Given the description of an element on the screen output the (x, y) to click on. 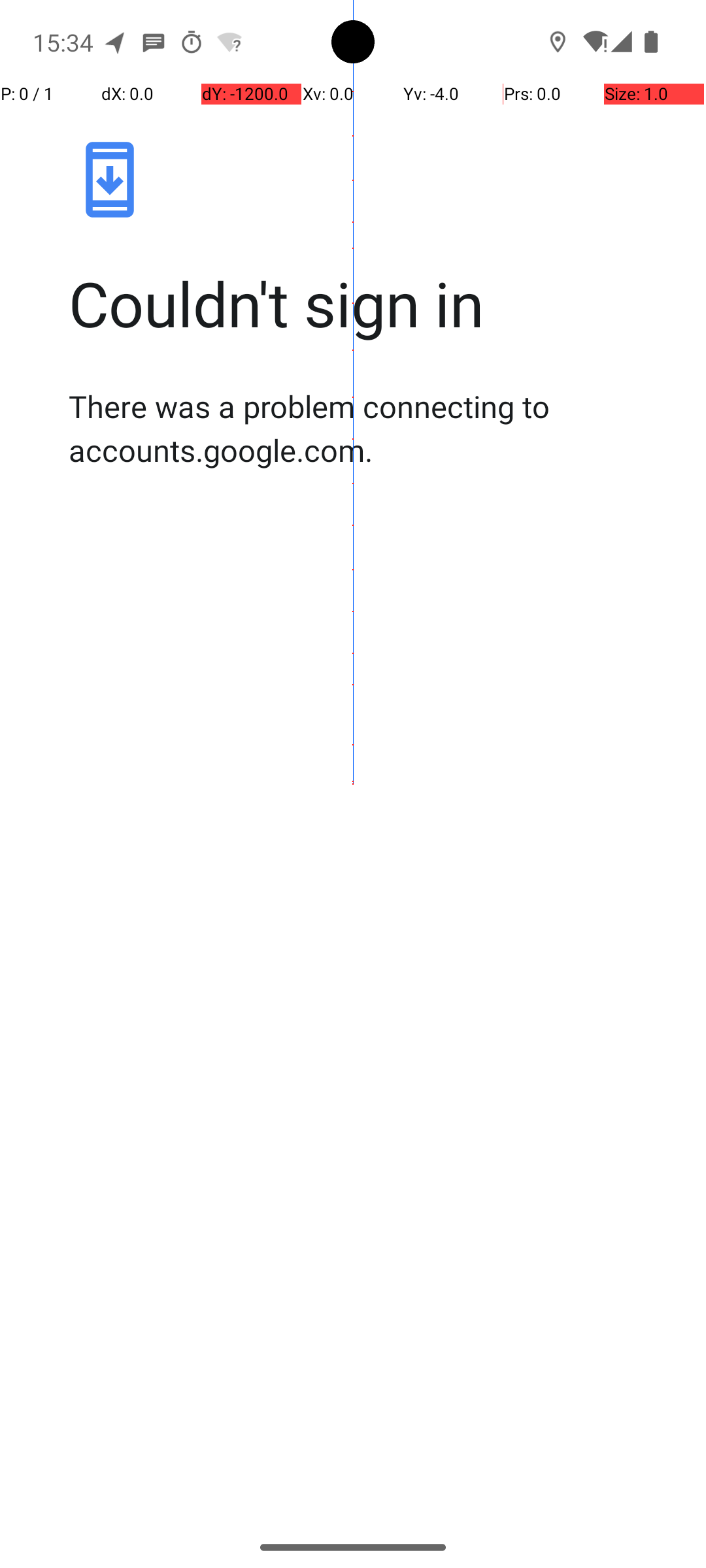
Couldn't sign in Element type: android.widget.TextView (366, 302)
There was a problem connecting to accounts.google.com. Element type: android.widget.TextView (366, 427)
